Given the description of an element on the screen output the (x, y) to click on. 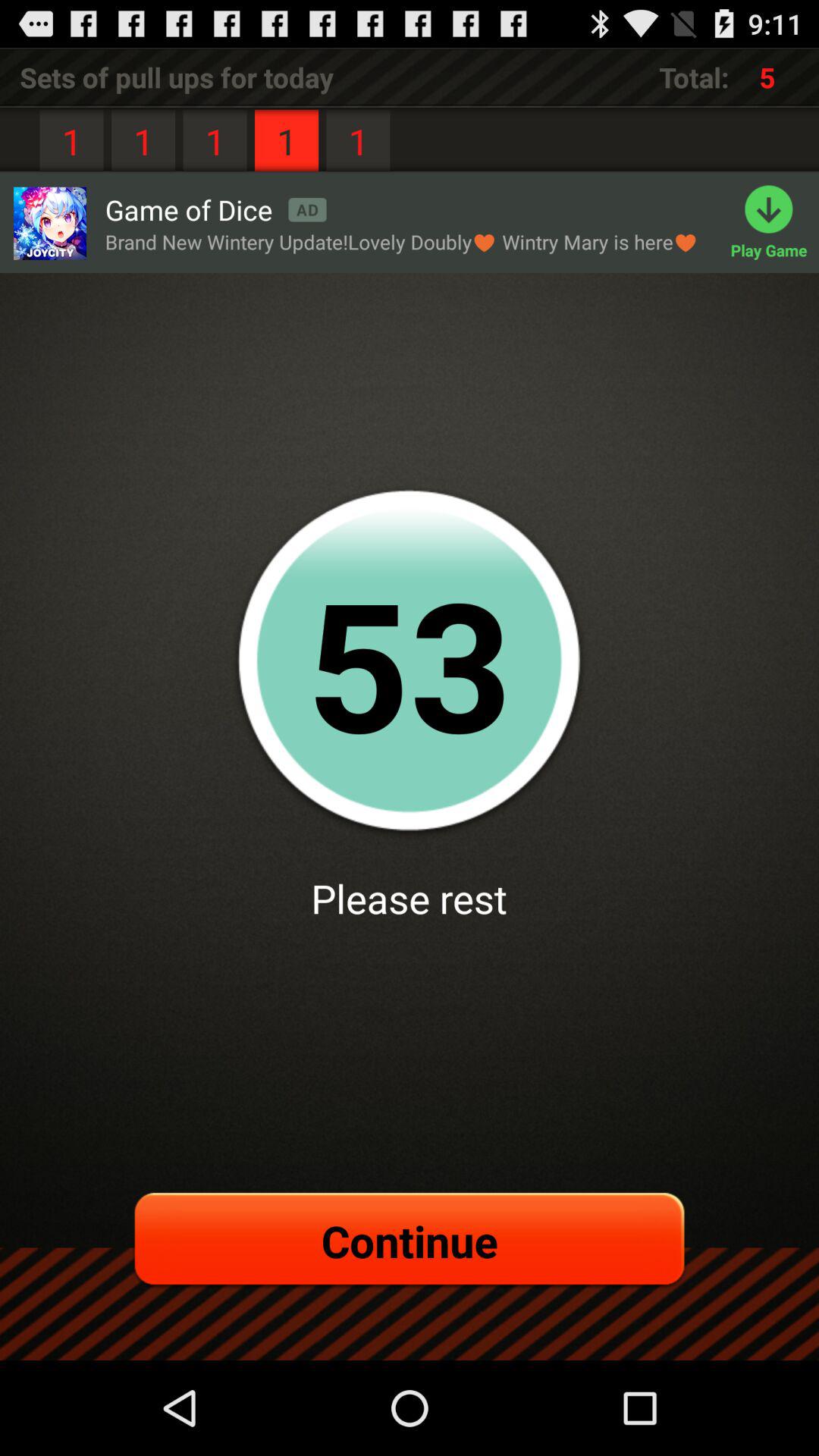
press the item below game of dice app (401, 241)
